Given the description of an element on the screen output the (x, y) to click on. 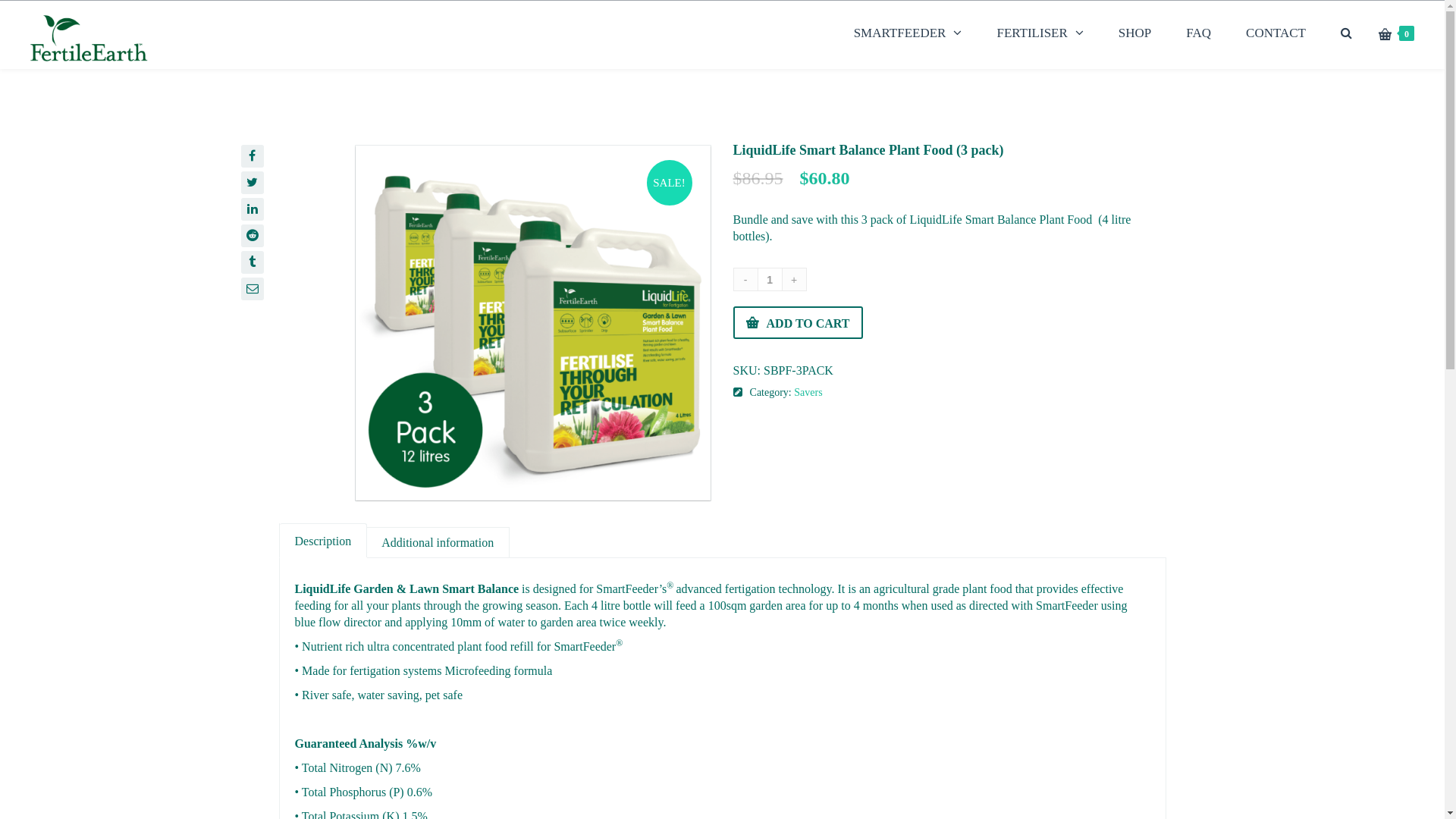
ADD TO CART Element type: text (797, 322)
Fertile Earth Element type: hover (88, 35)
FERTILISER Element type: text (1039, 32)
SMARTFEEDER Element type: text (907, 32)
Savers Element type: text (807, 392)
CONTACT Element type: text (1275, 32)
FAQ Element type: text (1198, 32)
Description Element type: text (323, 540)
Qty Element type: hover (769, 279)
Additional information Element type: text (437, 542)
SHOP Element type: text (1134, 32)
